Given the description of an element on the screen output the (x, y) to click on. 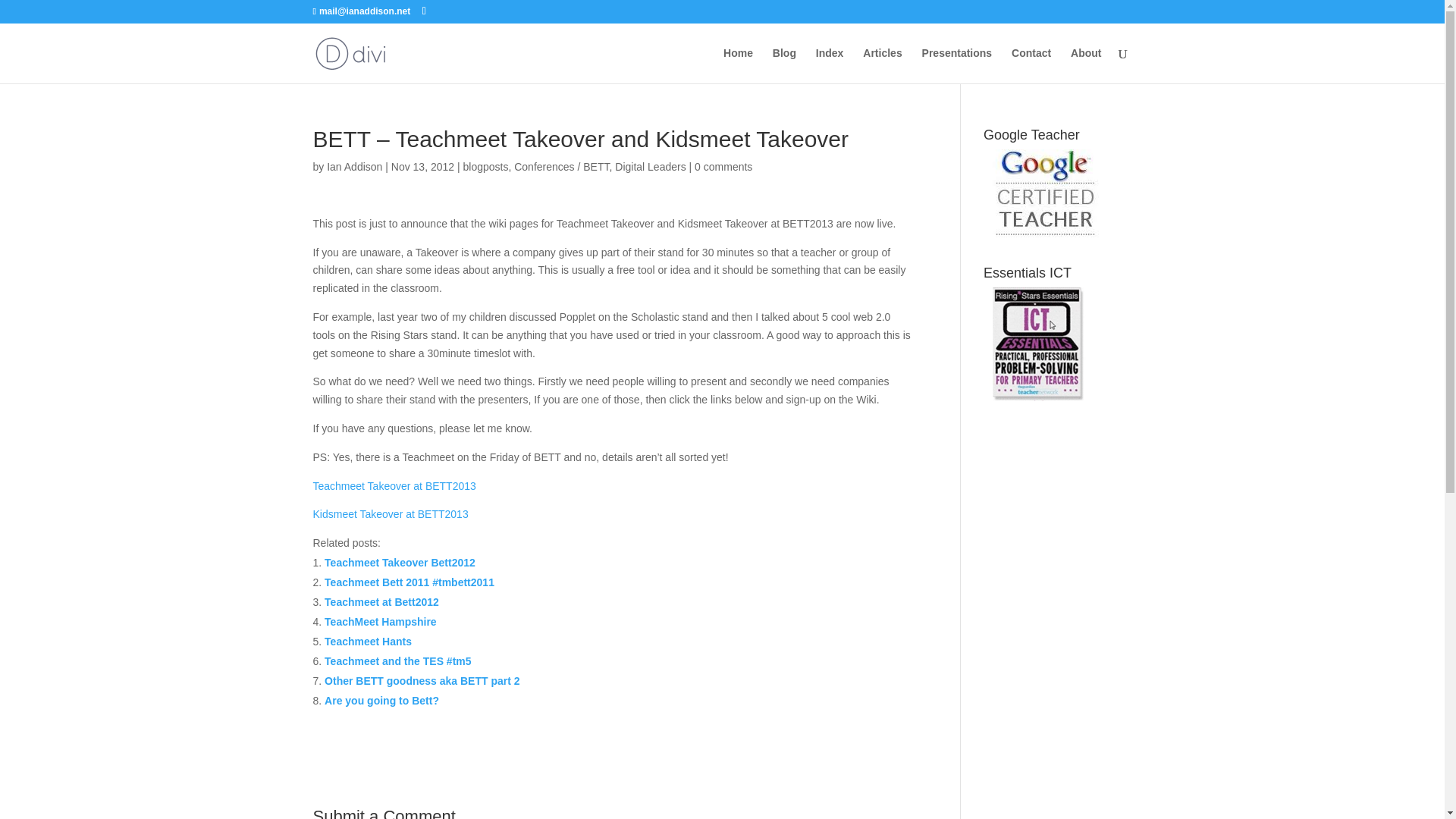
Digital Leaders (649, 166)
Teachmeet Hants (368, 641)
Teachmeet Takeover at BETT2013 (394, 485)
Posts by Ian Addison (353, 166)
Contact (1031, 65)
Kidsmeet Takeover at BETT2013 (390, 513)
Teachmeet Takeover Bett2012 (400, 562)
Presentations (956, 65)
Teachmeet Takeover Bett2012 (400, 562)
Other BETT goodness aka BETT part 2 (421, 680)
